Given the description of an element on the screen output the (x, y) to click on. 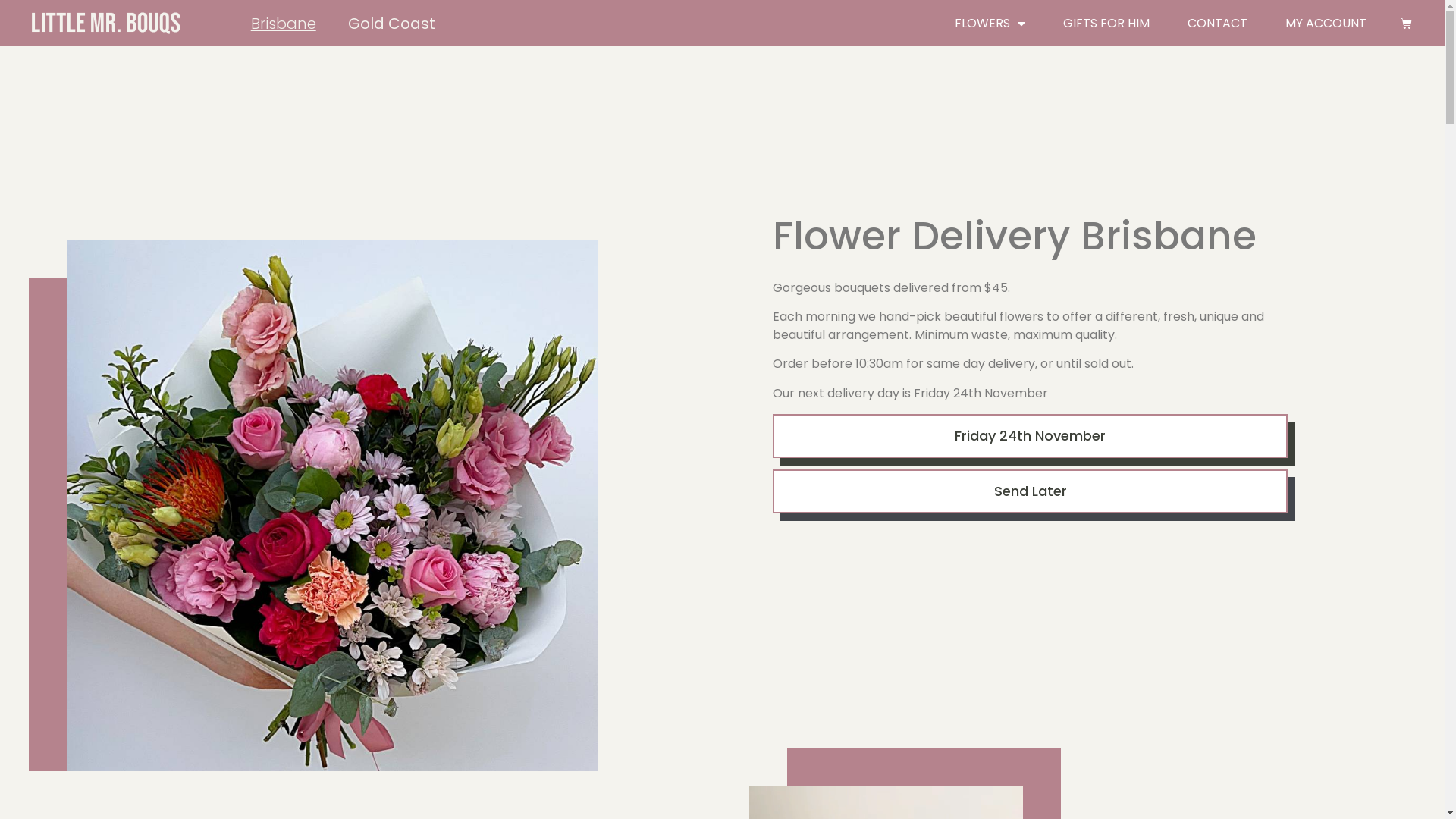
MY ACCOUNT Element type: text (1325, 22)
Send Later Element type: text (1029, 491)
Gold Coast Element type: text (391, 22)
GIFTS FOR HIM Element type: text (1106, 22)
Friday 24th November Element type: text (1029, 436)
FLOWERS Element type: text (989, 22)
CONTACT Element type: text (1217, 22)
Brisbane Element type: text (283, 22)
